Given the description of an element on the screen output the (x, y) to click on. 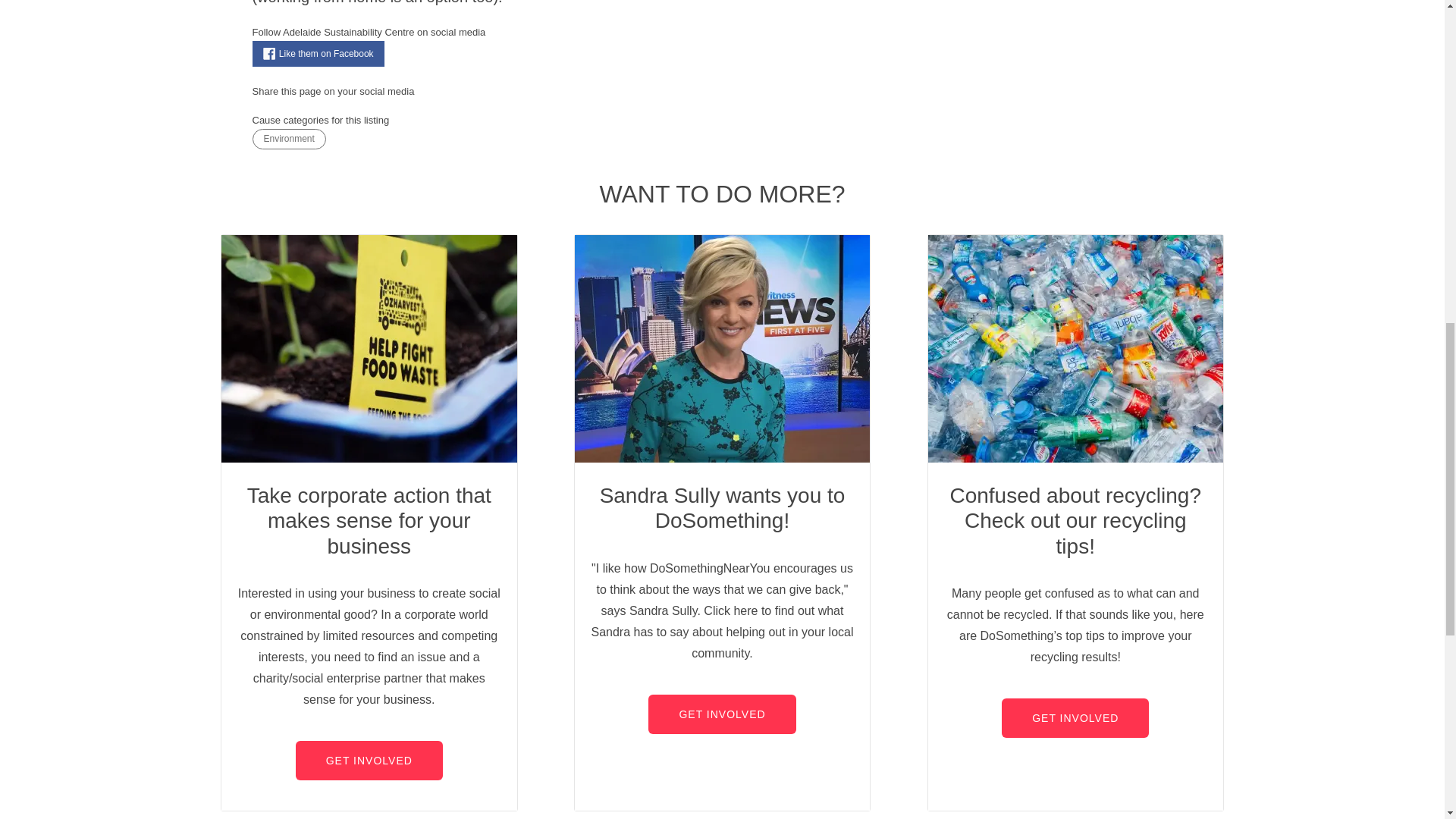
GET INVOLVED (720, 713)
Environment (287, 138)
Like them on Facebook (317, 52)
GET INVOLVED (1074, 717)
GET INVOLVED (368, 760)
